Given the description of an element on the screen output the (x, y) to click on. 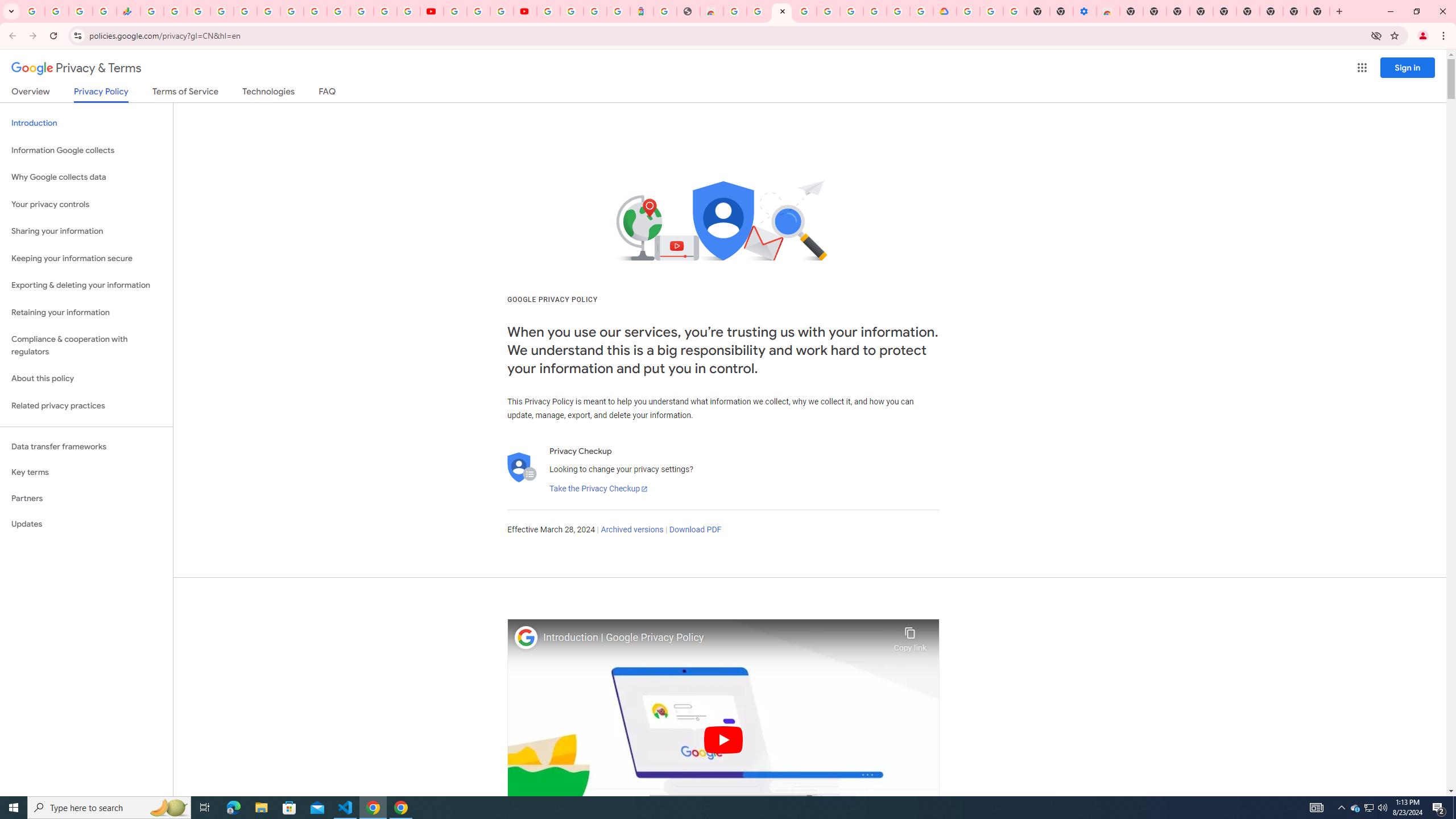
Compliance & cooperation with regulators (86, 345)
Privacy Checkup (408, 11)
Introduction (86, 122)
Take the Privacy Checkup (597, 488)
Data transfer frameworks (86, 446)
Retaining your information (86, 312)
Why Google collects data (86, 176)
